Given the description of an element on the screen output the (x, y) to click on. 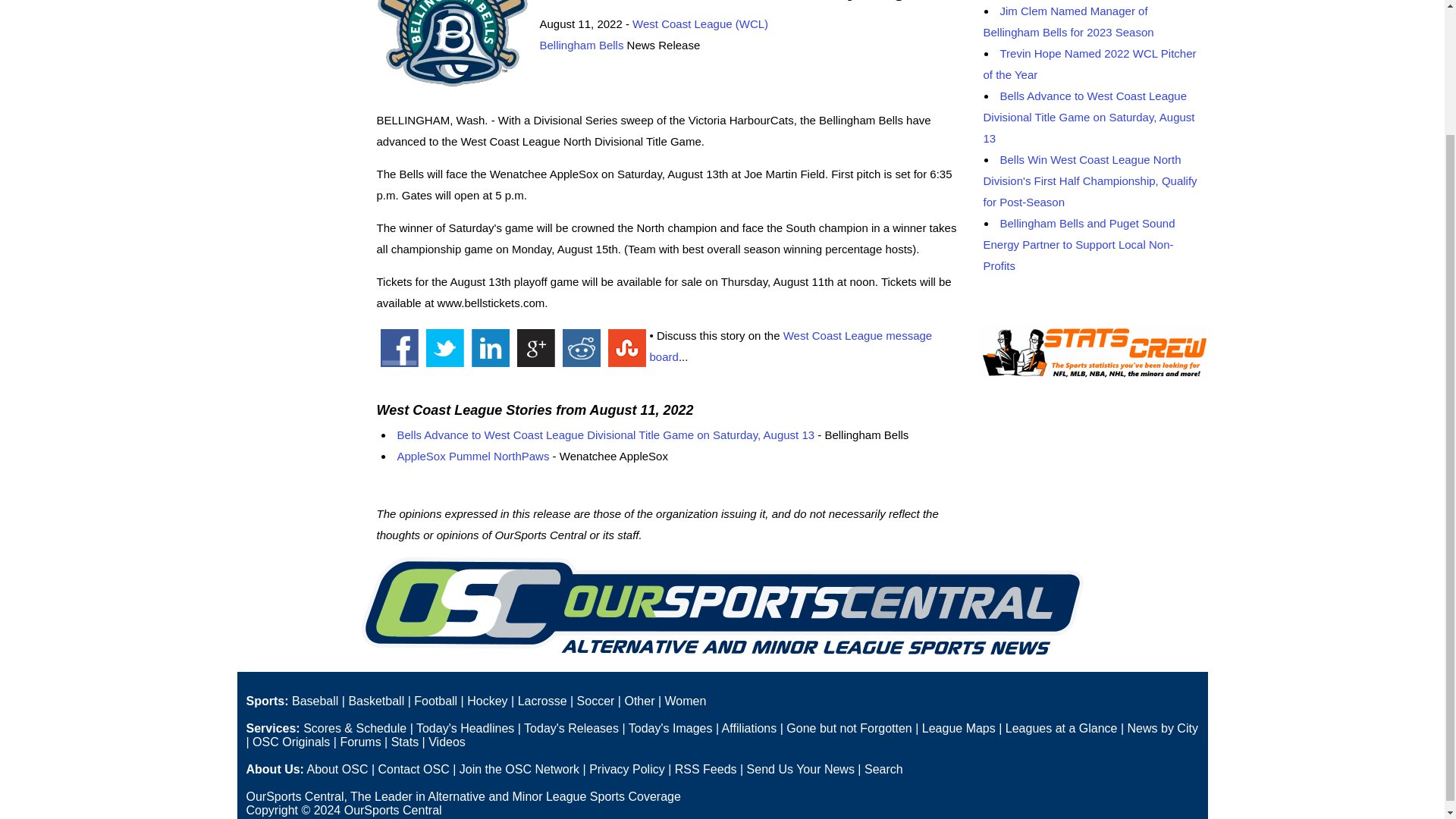
Leagues at a Glance (1062, 727)
Sports Statistics (405, 741)
Today's Releases (571, 727)
Send Us Your News (800, 768)
Today's Headlines (464, 727)
League Maps (958, 727)
About OSC (336, 768)
News by City (1162, 727)
Privacy Policy (627, 768)
Affiliations (749, 727)
RSS Feeds (705, 768)
OSC Video (446, 741)
Join the OSC Network (519, 768)
Today's Images (670, 727)
OSC Originals (290, 741)
